Given the description of an element on the screen output the (x, y) to click on. 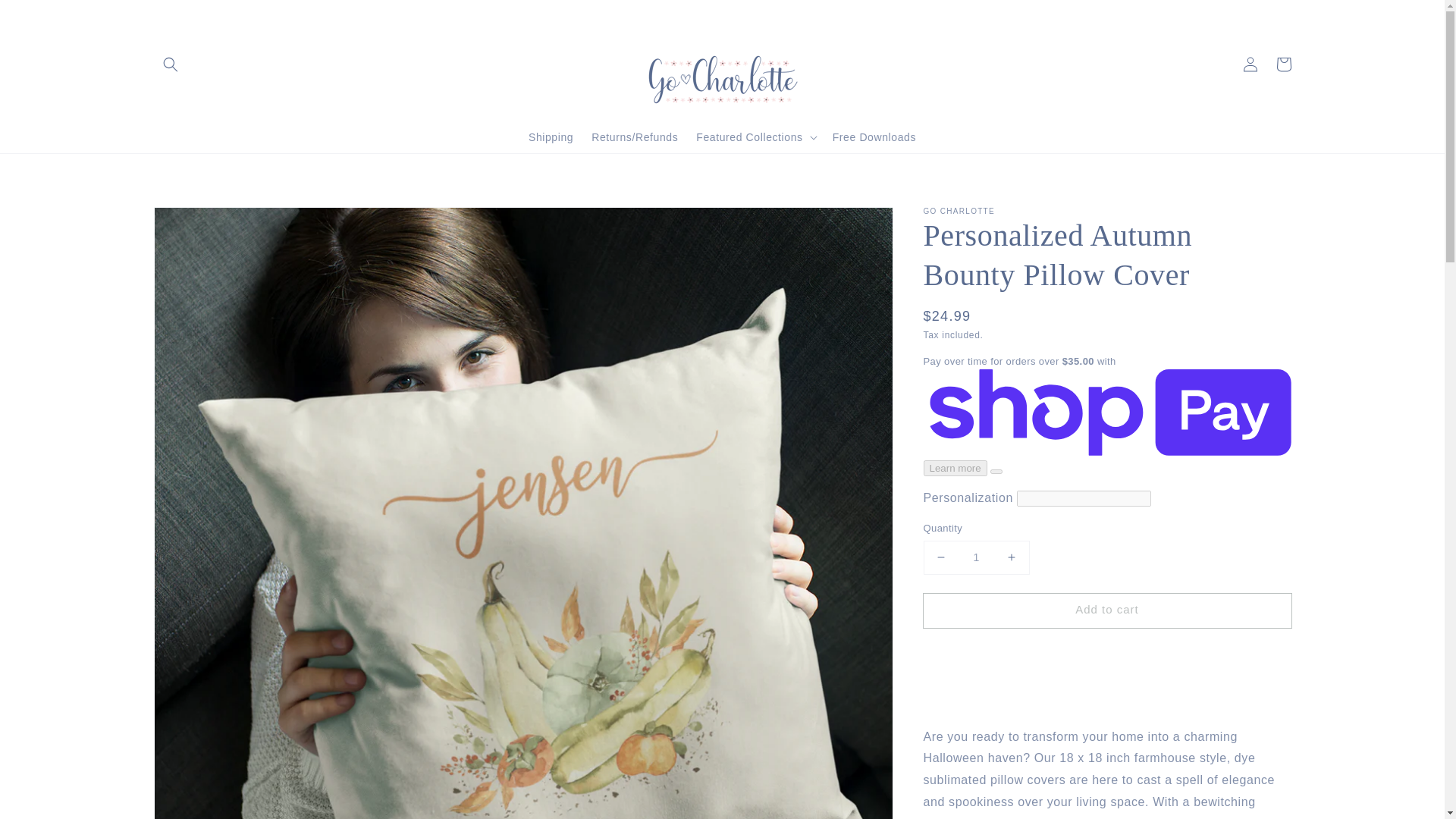
Skip to content (45, 16)
Shipping (550, 137)
1 (976, 557)
Cart (1283, 63)
Log in (1249, 63)
Skip to product information (198, 223)
Free Downloads (874, 137)
